Given the description of an element on the screen output the (x, y) to click on. 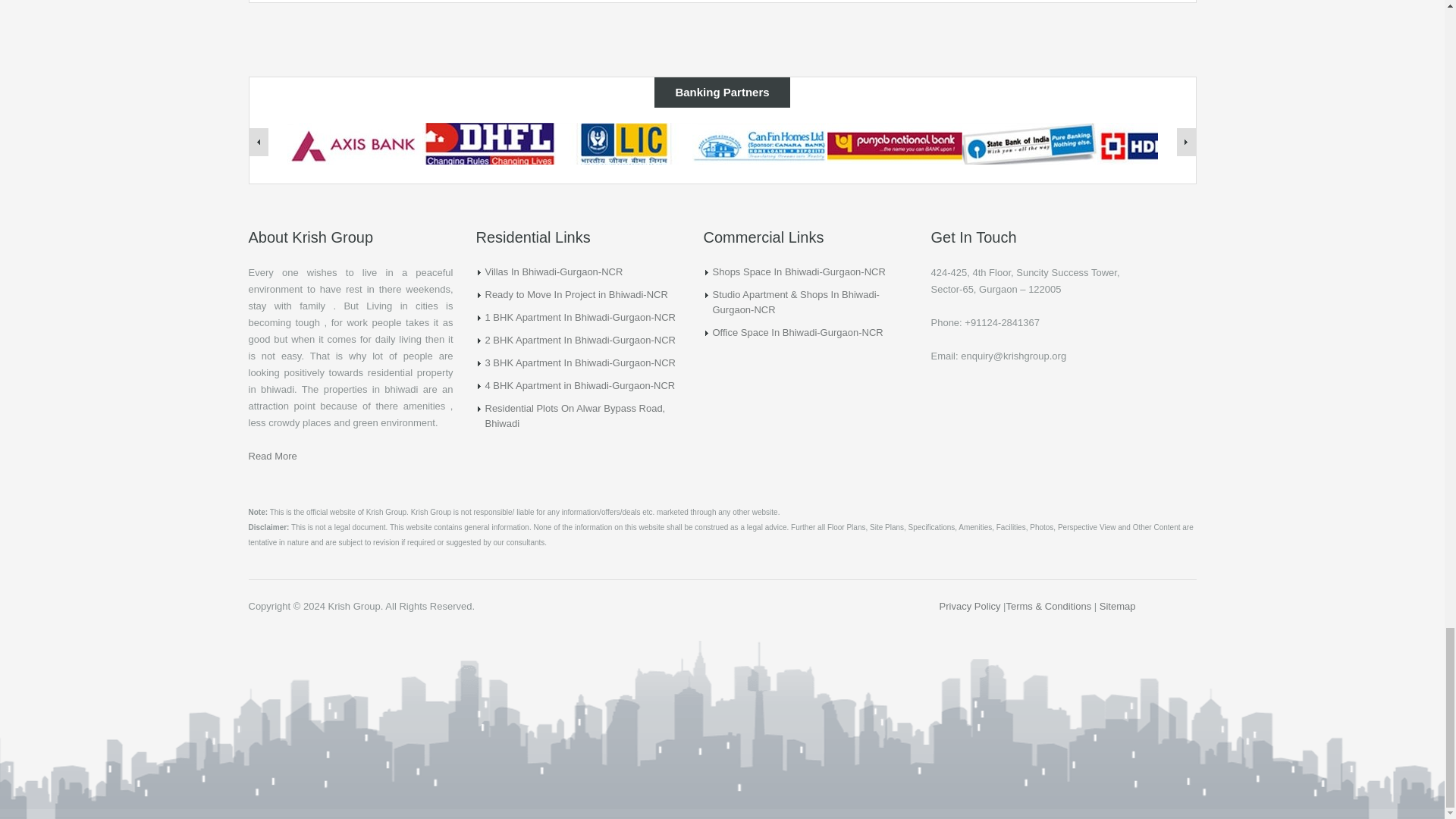
DHFL (489, 143)
Axis Bank (354, 143)
Axis Bank (354, 144)
Can Fin Homes Ltd (759, 144)
DHFL (489, 144)
LIC (623, 144)
Can Fin Homes Ltd (759, 143)
LIC (623, 143)
